Given the description of an element on the screen output the (x, y) to click on. 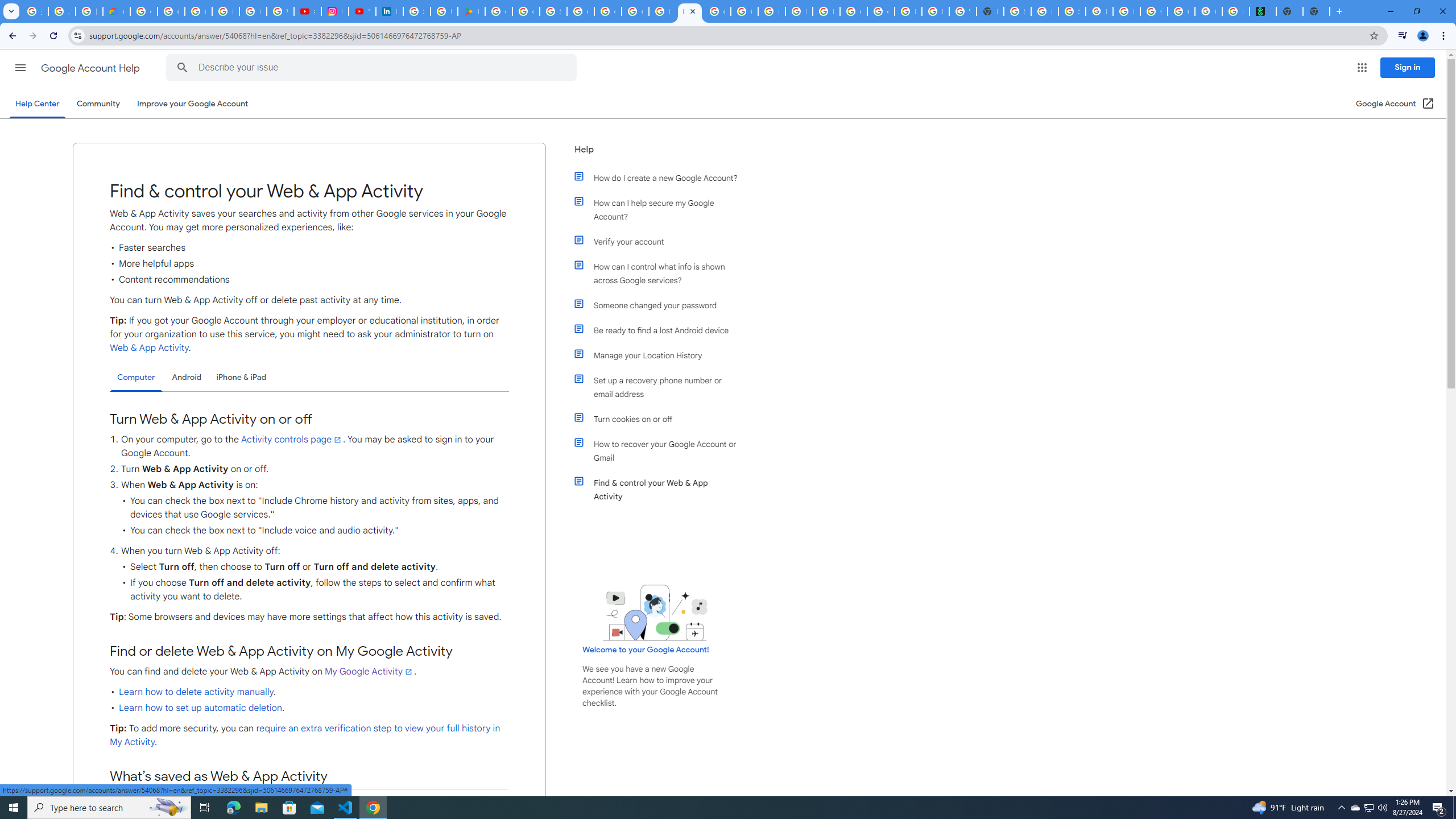
Browse Chrome as a guest - Computer - Google Chrome Help (908, 11)
How do I create a new Google Account? (661, 177)
Be ready to find a lost Android device (661, 330)
Manage your Location History (661, 355)
